Given the description of an element on the screen output the (x, y) to click on. 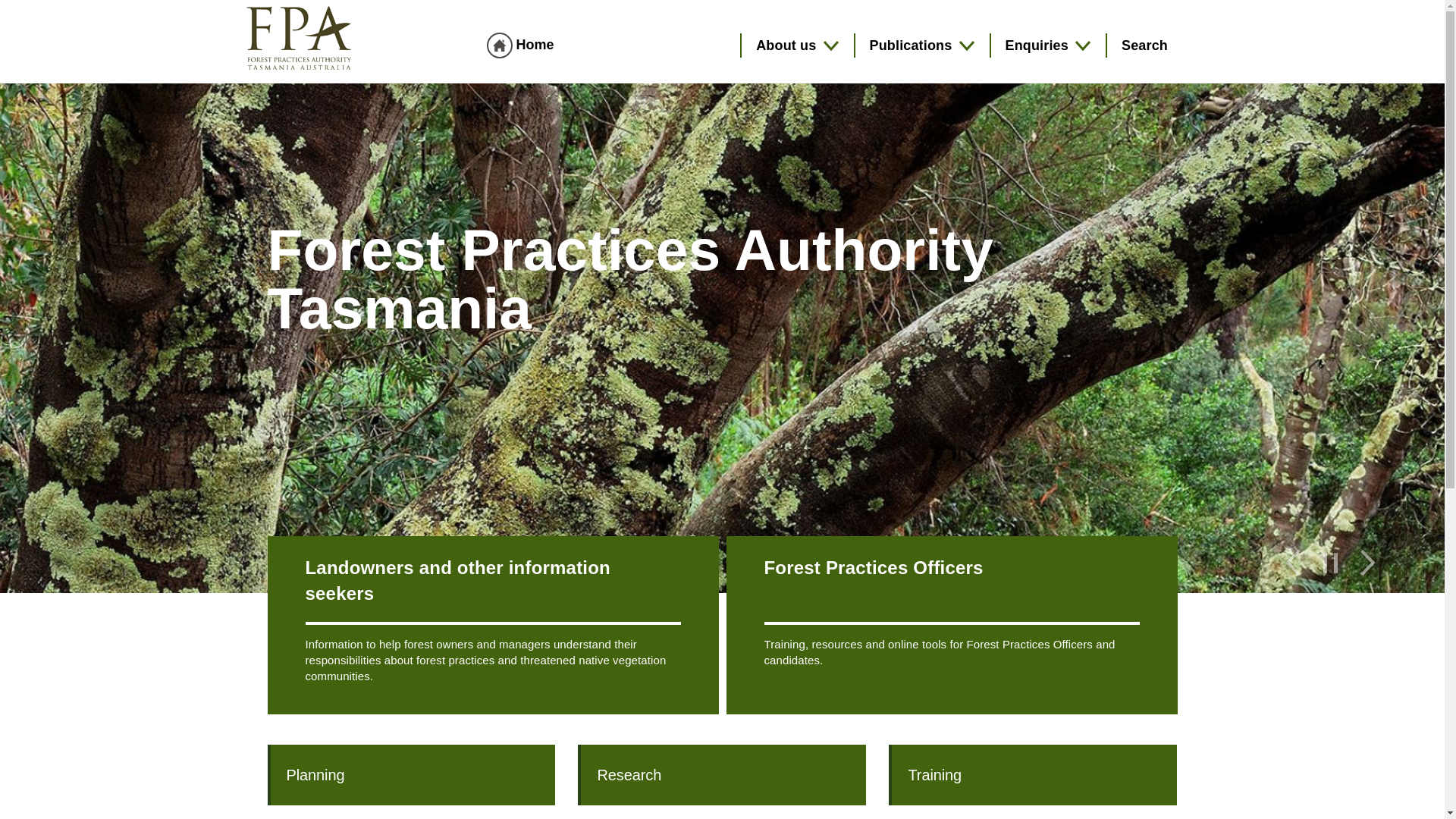
home main static (499, 45)
home main static Home (520, 44)
